Given the description of an element on the screen output the (x, y) to click on. 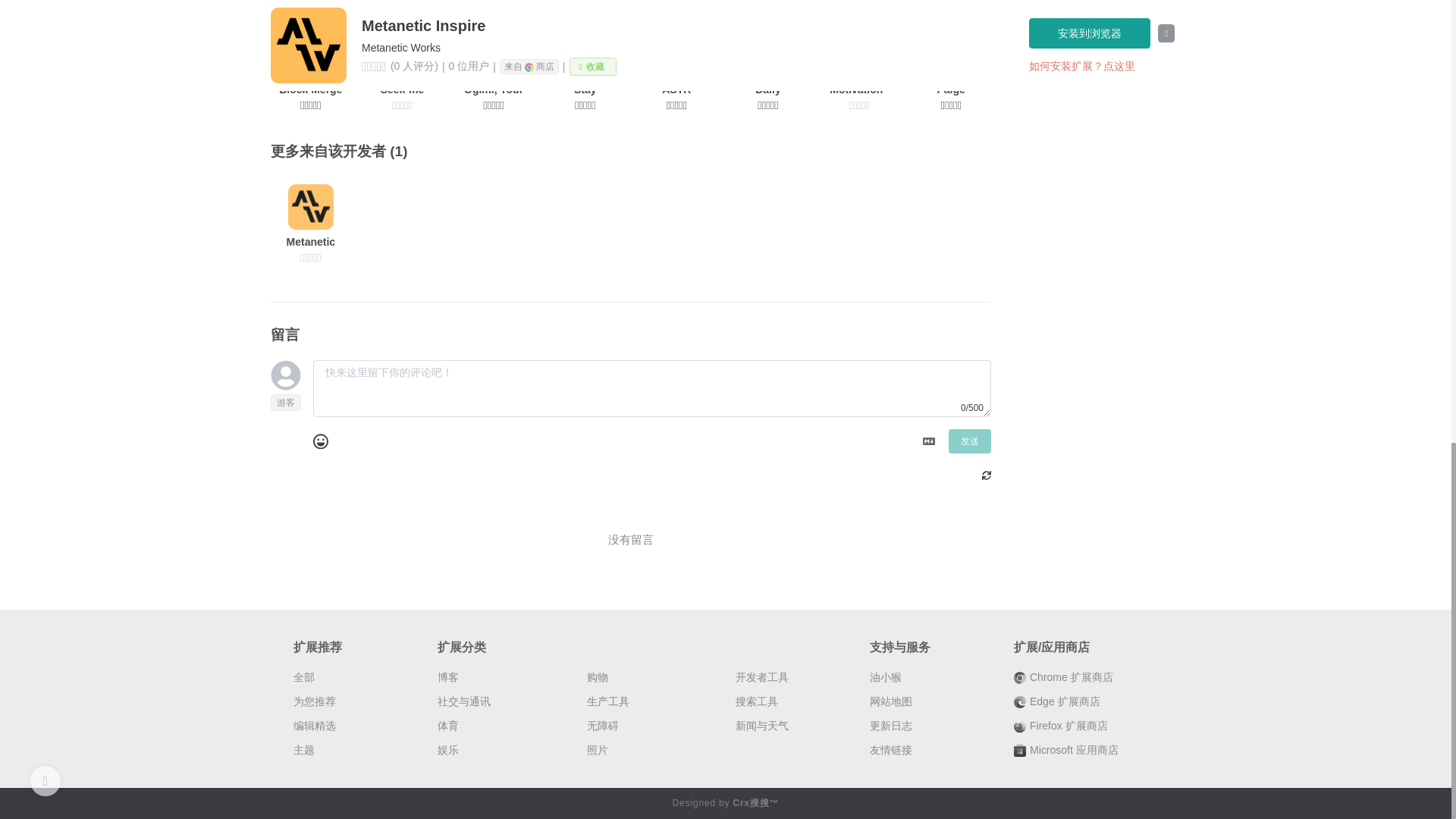
ASTR Browser Companion: Discover affirmations (677, 71)
Stay Focussed (585, 71)
Ogimi, Your Personalized AI Meditation Coach (493, 71)
Stay Focussed (585, 71)
Seek-me (402, 71)
ASTR Browser Companion: Discover affirmations (677, 71)
Metanetic News (310, 223)
Seek-me (402, 71)
Daily Inspiring Quotes (768, 71)
Ogimi, Your Personalized AI Meditation Coach (493, 71)
Paige (951, 71)
